Given the description of an element on the screen output the (x, y) to click on. 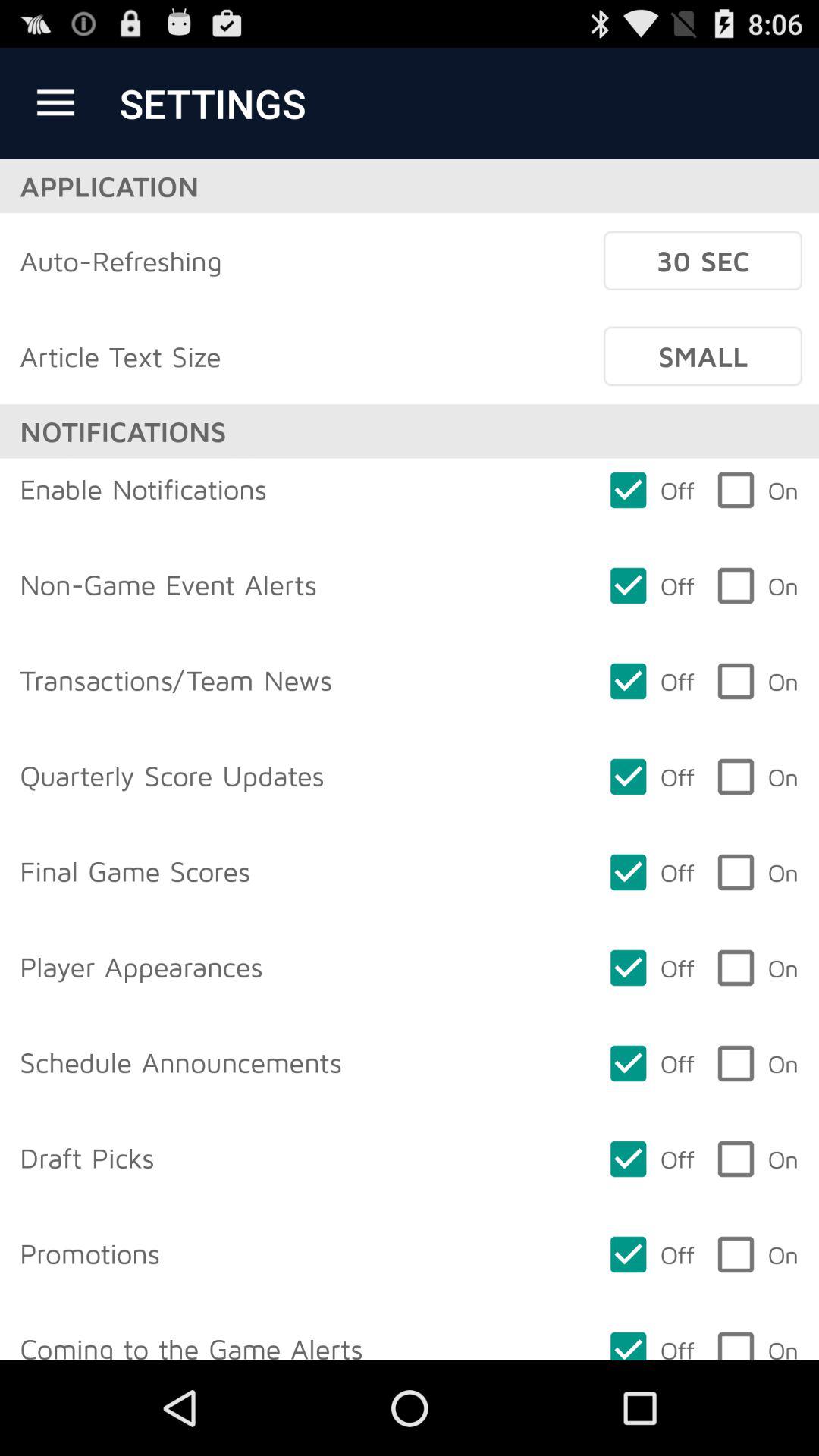
choose icon to the left of the settings (55, 103)
